Given the description of an element on the screen output the (x, y) to click on. 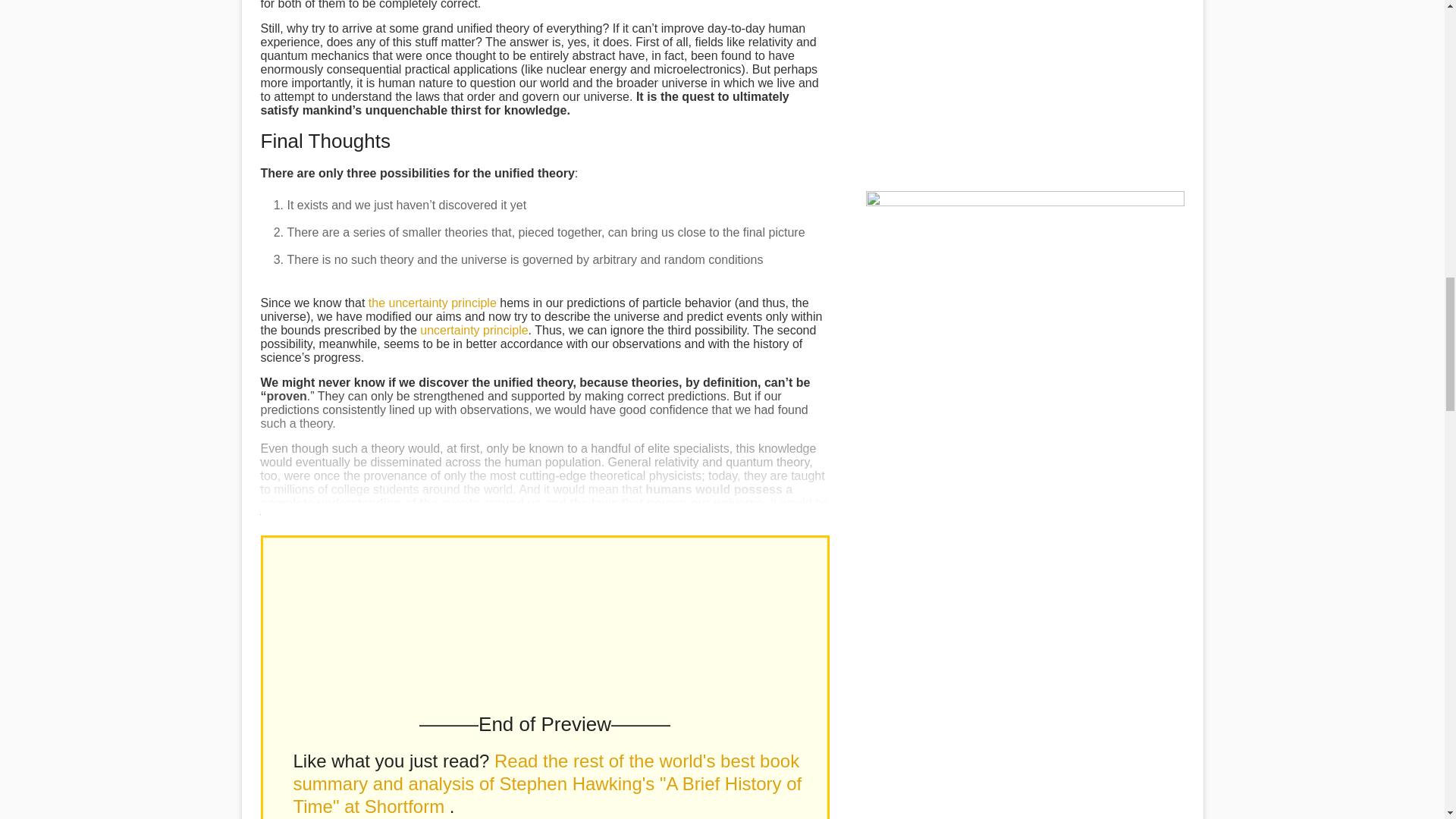
uncertainty principle (473, 329)
the uncertainty principle (432, 302)
